Given the description of an element on the screen output the (x, y) to click on. 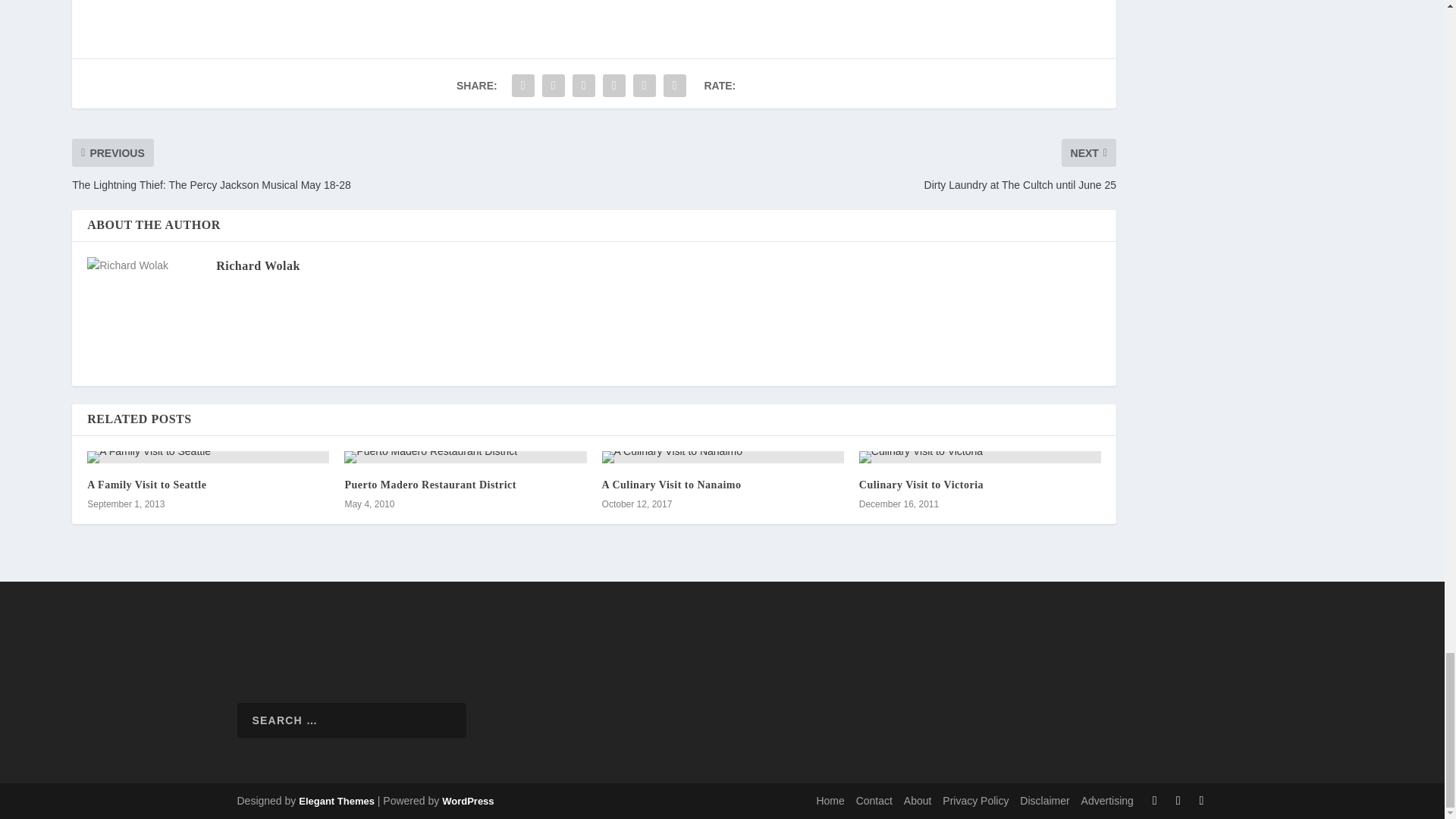
Culinary Visit to Victoria (979, 457)
Premium WordPress Themes (336, 800)
A Culinary Visit to Nanaimo (723, 457)
View all posts by Richard Wolak (257, 265)
Puerto Madero Restaurant District (464, 457)
A Family Visit to Seattle (208, 457)
